Given the description of an element on the screen output the (x, y) to click on. 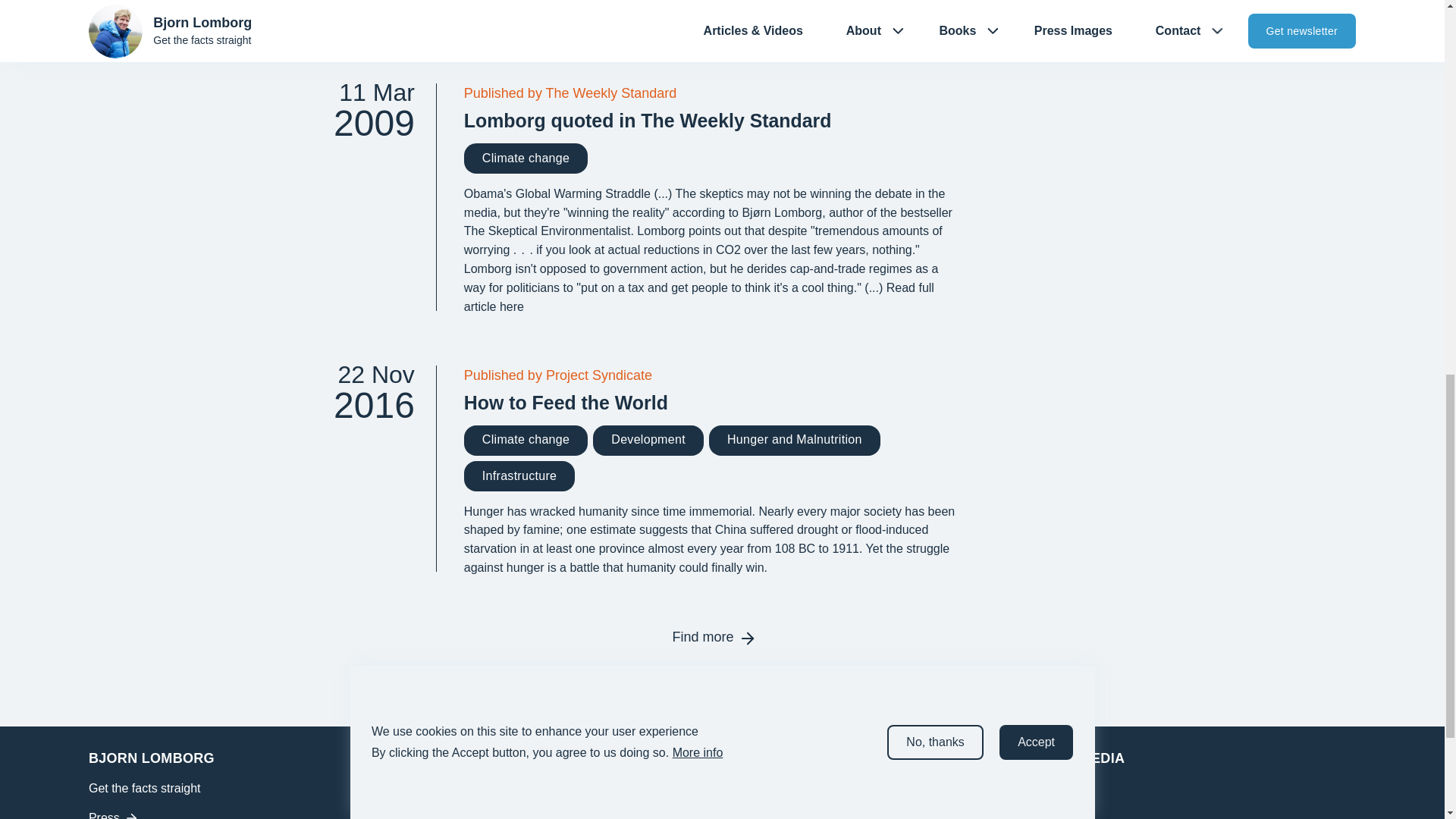
Climate change (526, 158)
Climate change (713, 158)
Published by The Weekly Standard (713, 93)
Lomborg quoted in The Weekly Standard (362, 14)
